Given the description of an element on the screen output the (x, y) to click on. 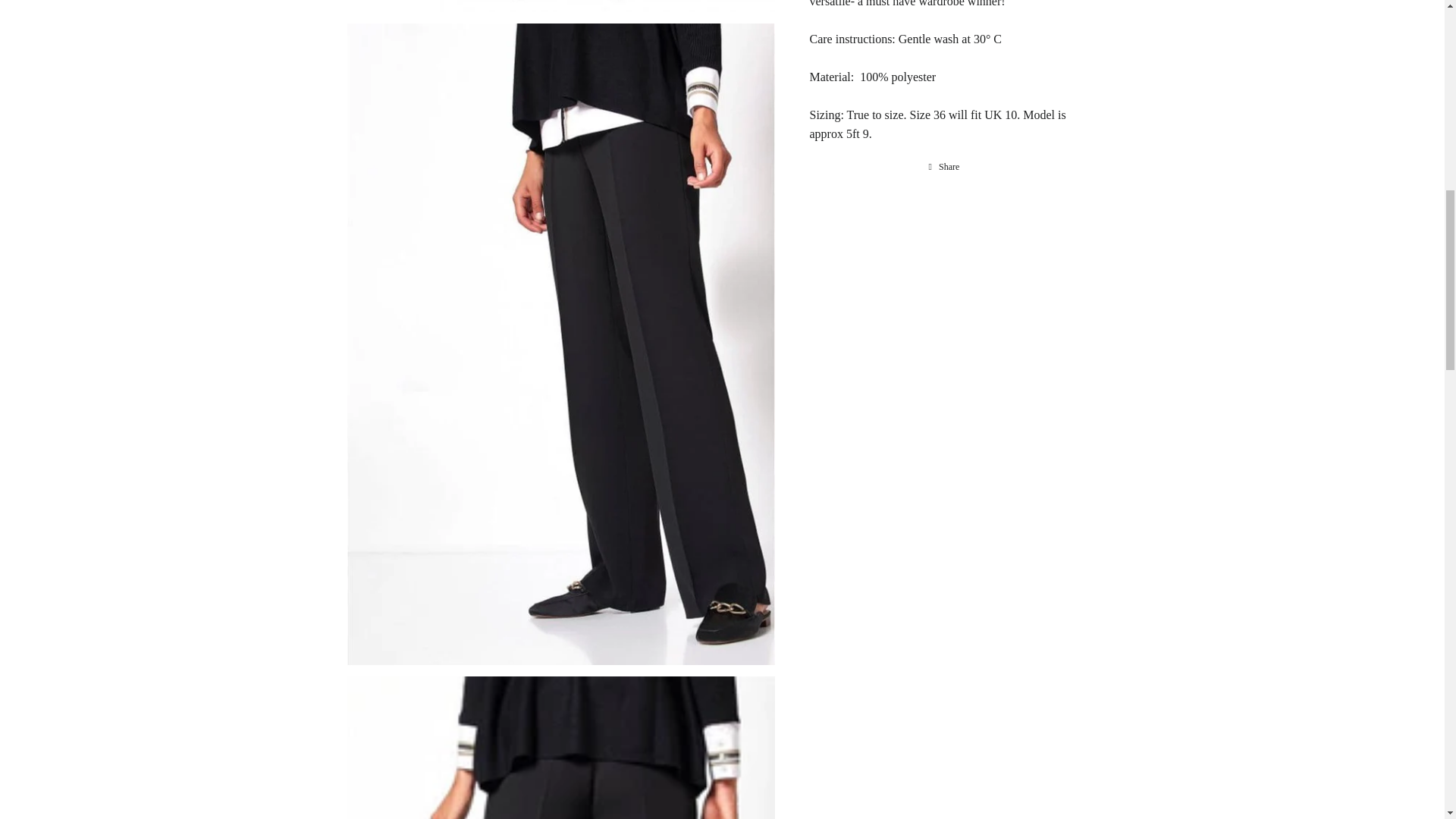
Share on Facebook (944, 166)
